Given the description of an element on the screen output the (x, y) to click on. 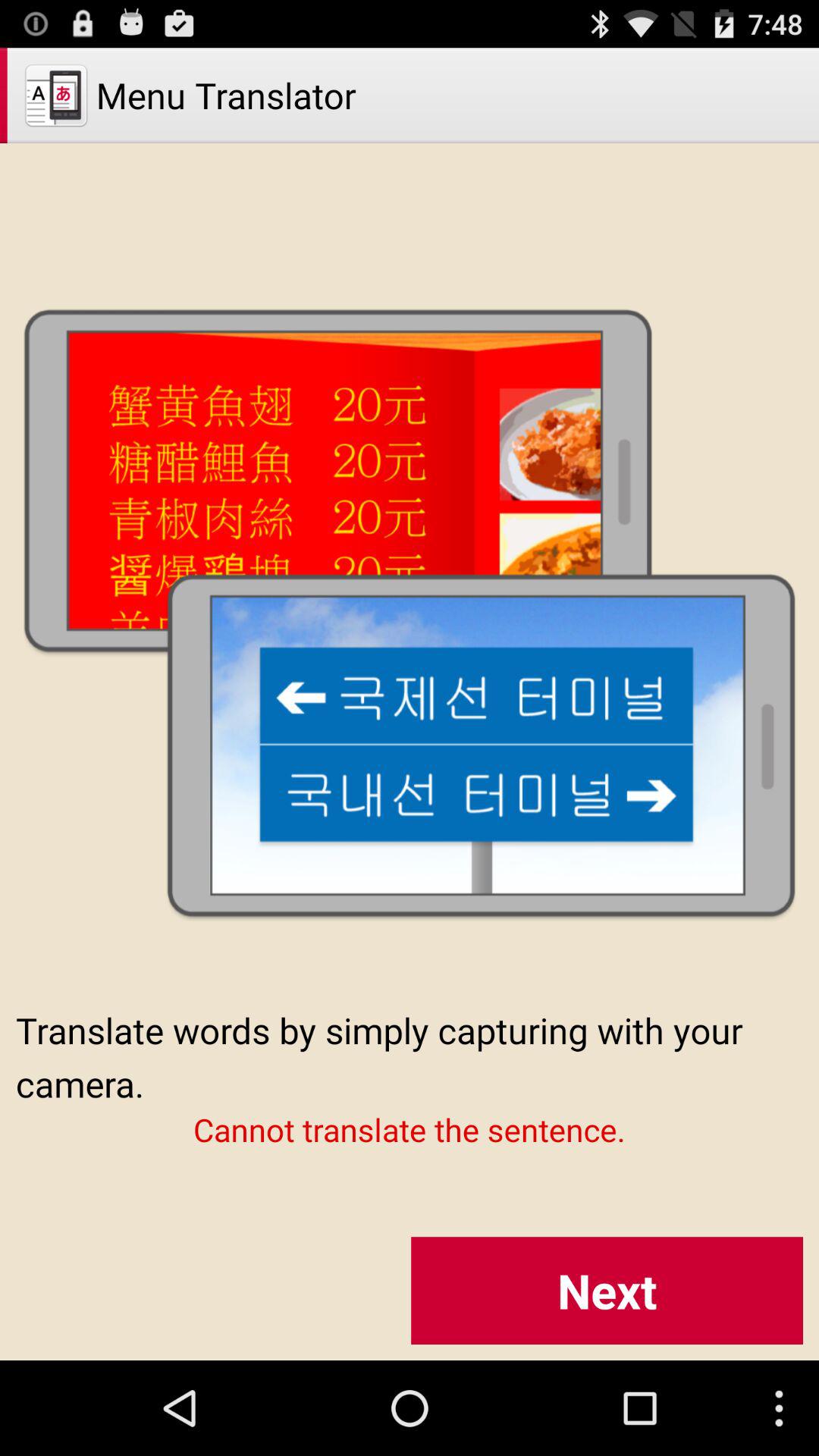
open the item below the cannot translate the (607, 1290)
